Given the description of an element on the screen output the (x, y) to click on. 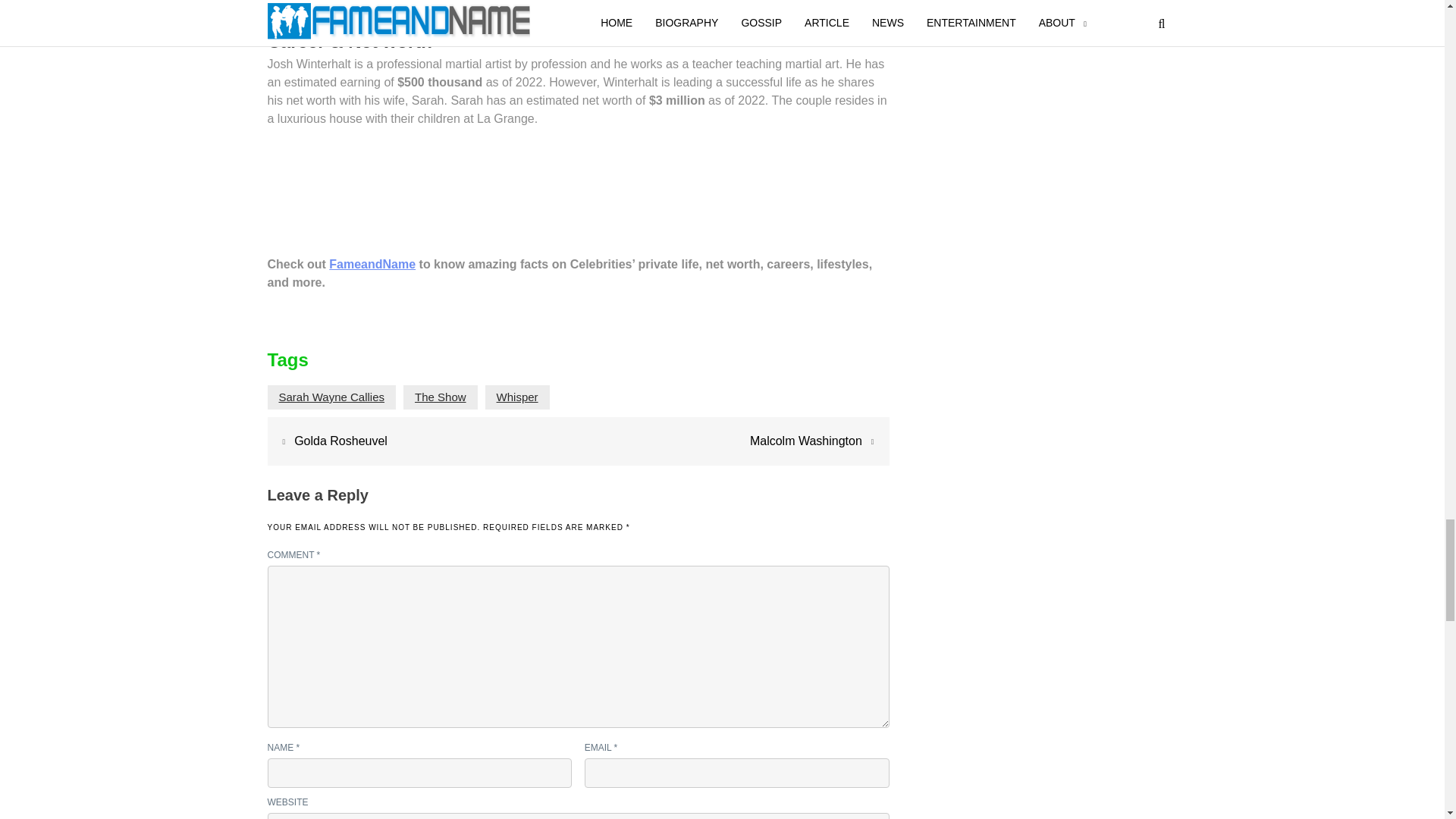
Malcolm Washington (805, 440)
Sarah Wayne Callies (332, 396)
FameandName (371, 264)
Whisper (517, 396)
The Show (439, 396)
Golda Rosheuvel (340, 440)
